Given the description of an element on the screen output the (x, y) to click on. 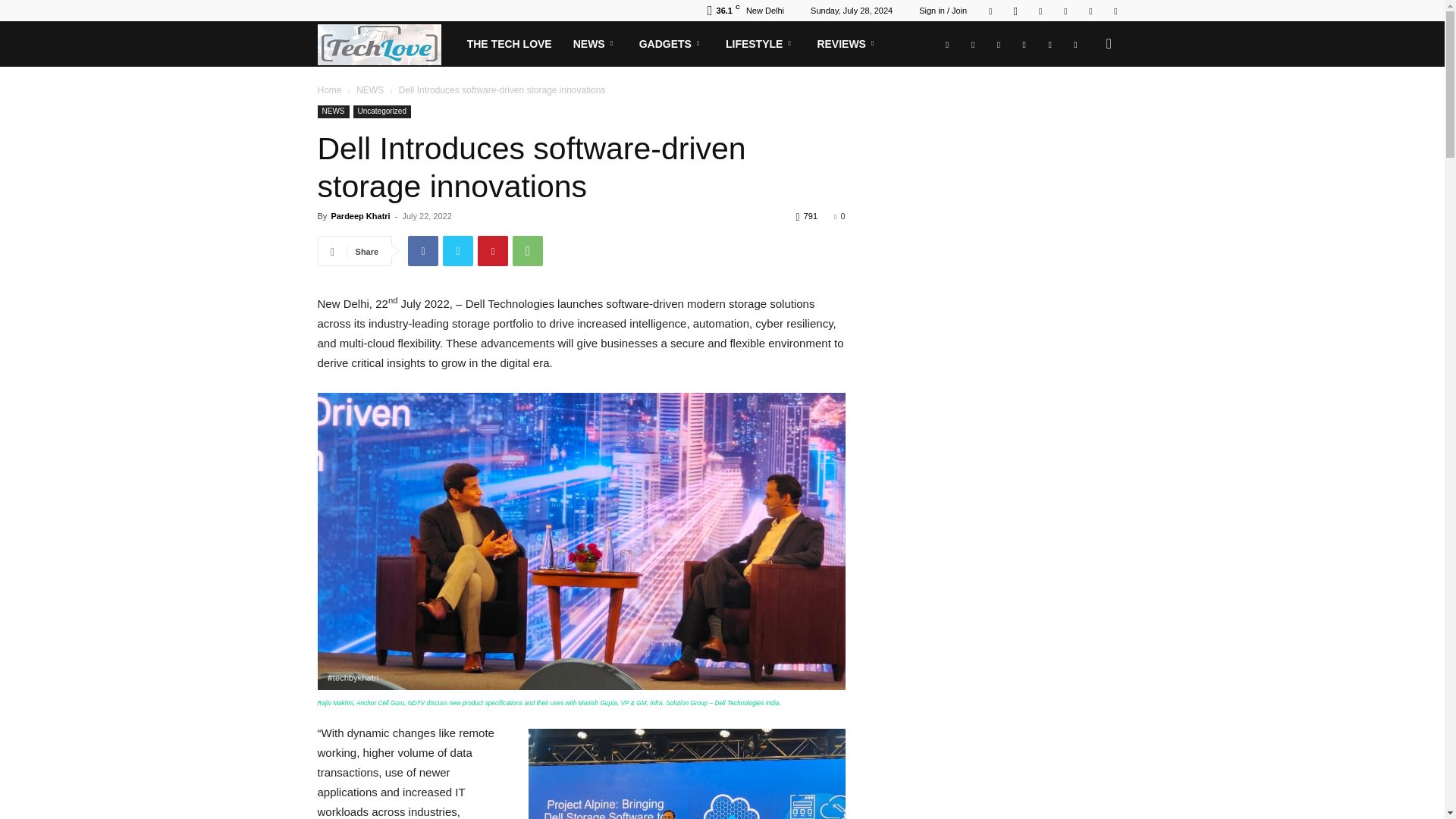
VKontakte (1090, 10)
Facebook (989, 10)
NEWS (595, 43)
Twitter (1040, 10)
Youtube (1114, 10)
THE TECH LOVE (509, 43)
The Tech Love (386, 44)
Instagram (1015, 10)
Vimeo (1065, 10)
